Given the description of an element on the screen output the (x, y) to click on. 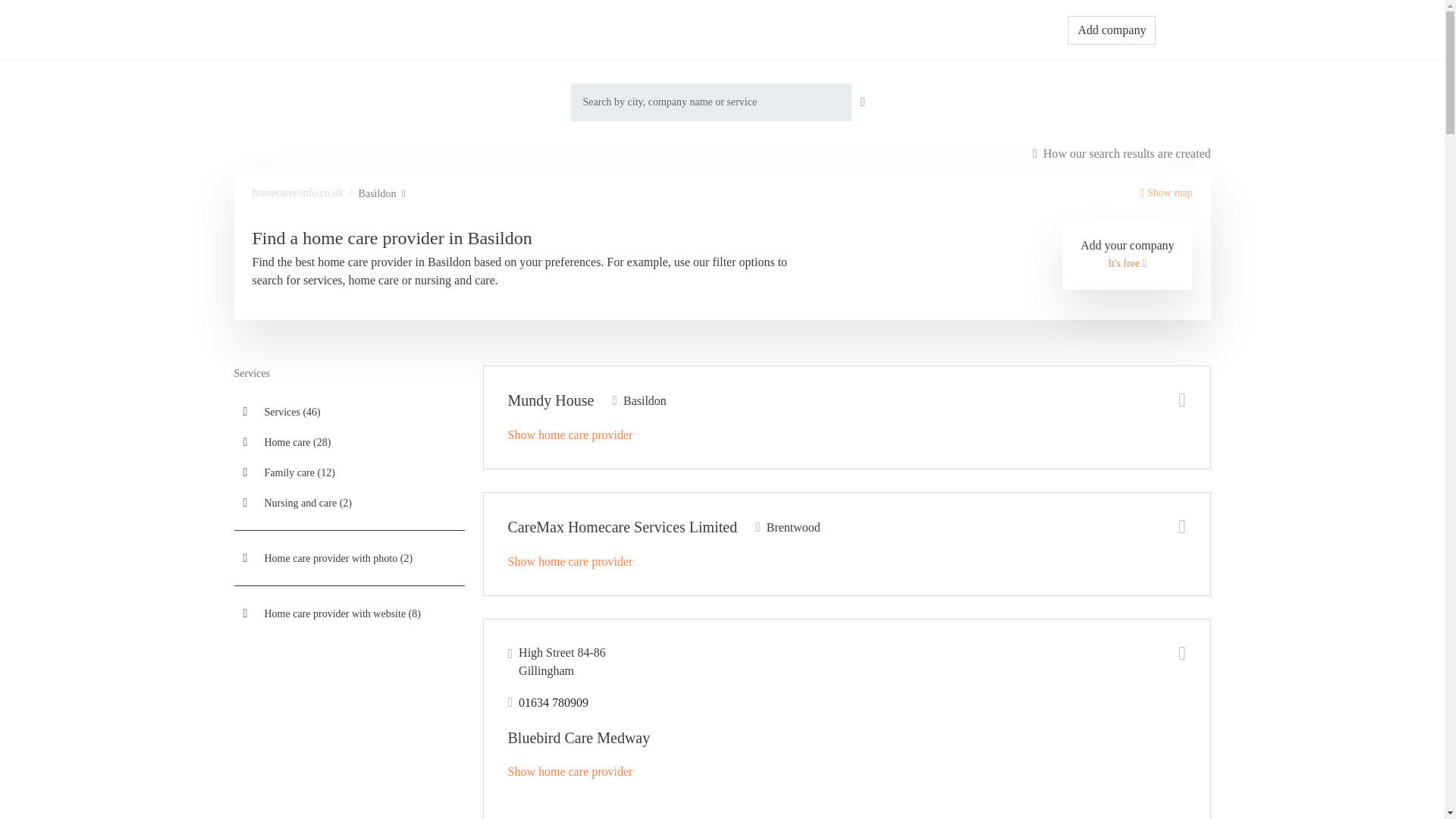
Find home care provider (685, 29)
Articles (778, 29)
Forum (834, 29)
